Given the description of an element on the screen output the (x, y) to click on. 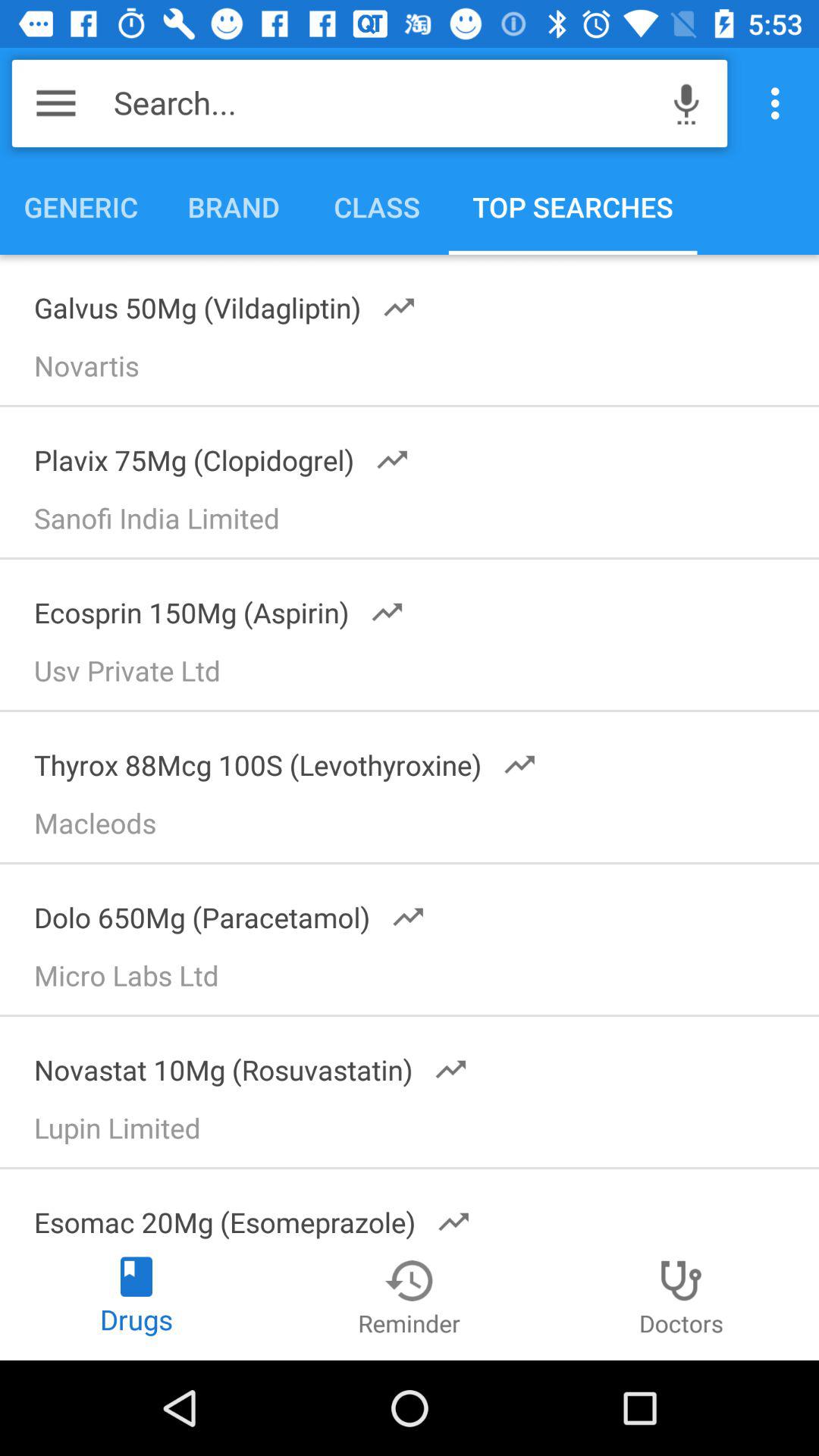
jump to the sanofi india limited (416, 523)
